Given the description of an element on the screen output the (x, y) to click on. 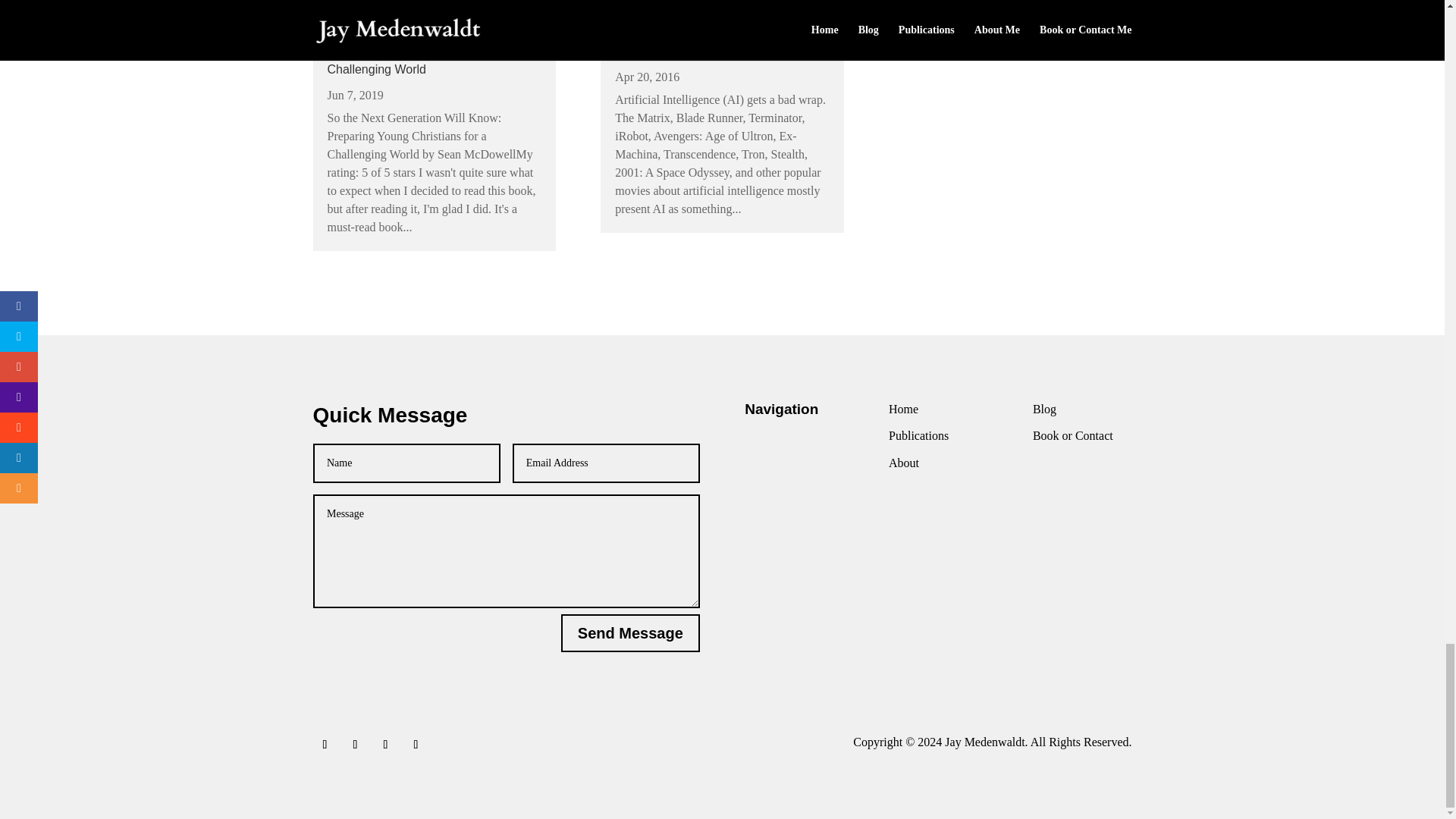
Follow on Facebook (324, 744)
Home (903, 408)
Send Message (630, 632)
About (903, 462)
Follow on LinkedIn (384, 744)
Publications (918, 435)
Follow on Instagram (415, 744)
Follow on X (354, 744)
